Given the description of an element on the screen output the (x, y) to click on. 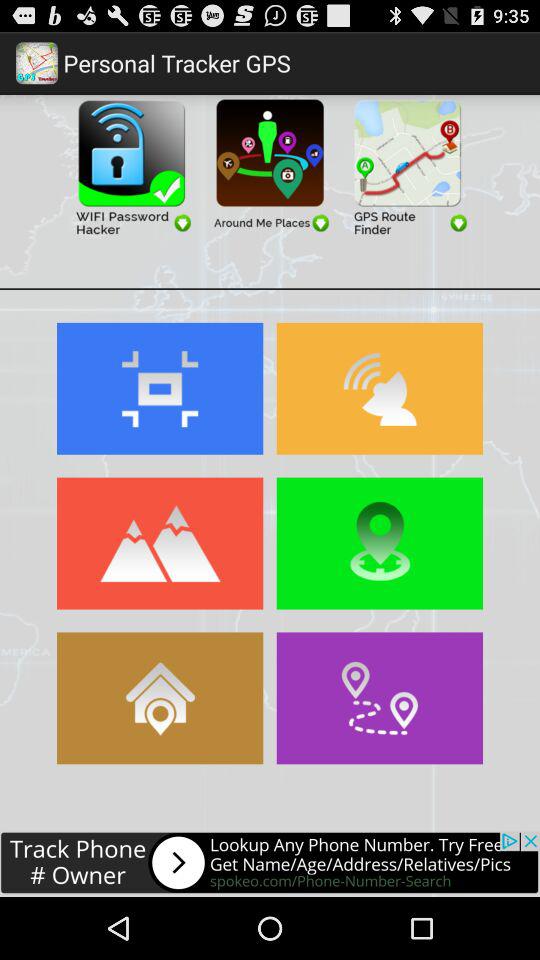
location (379, 543)
